Given the description of an element on the screen output the (x, y) to click on. 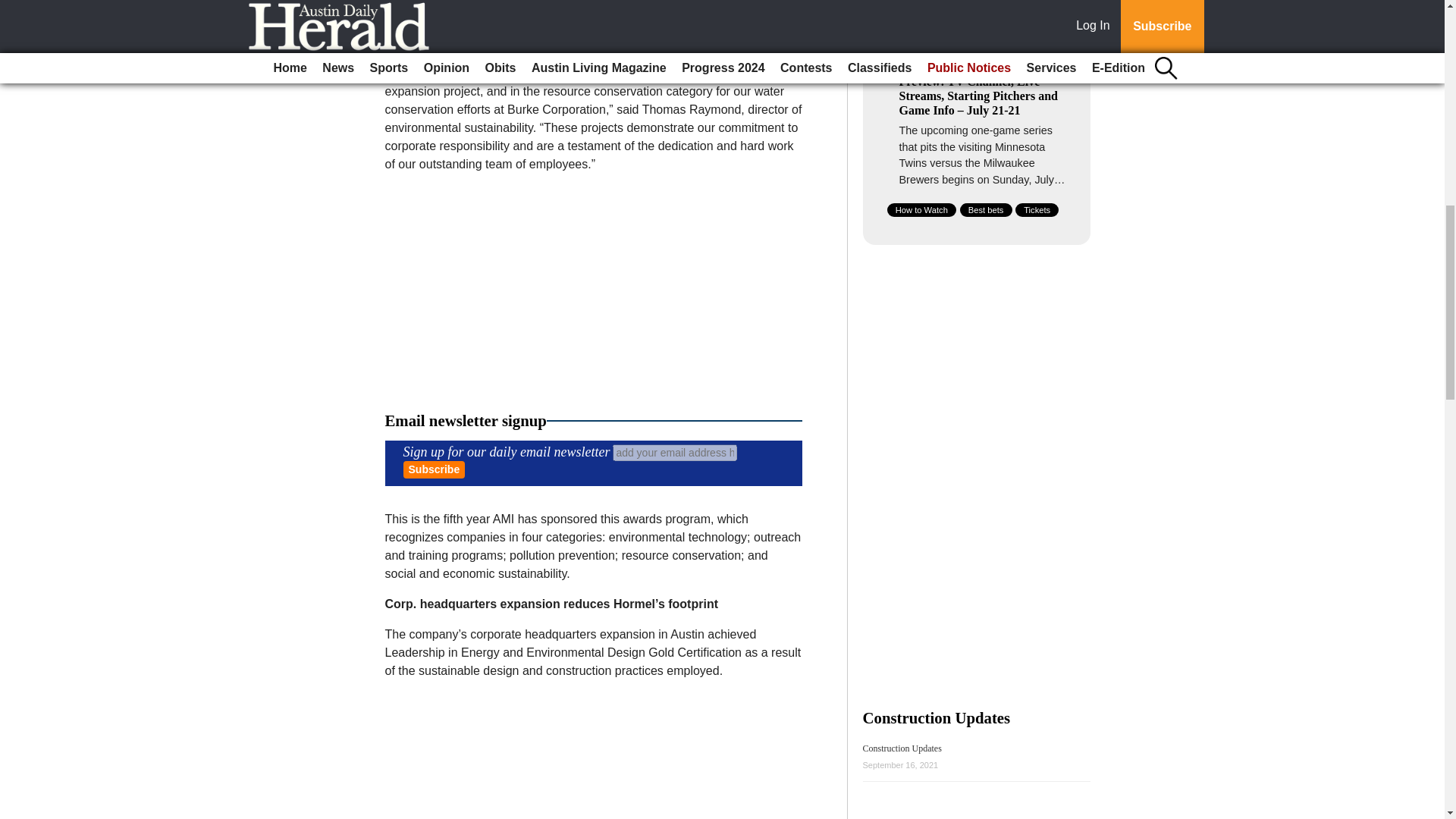
Subscribe (434, 469)
